Given the description of an element on the screen output the (x, y) to click on. 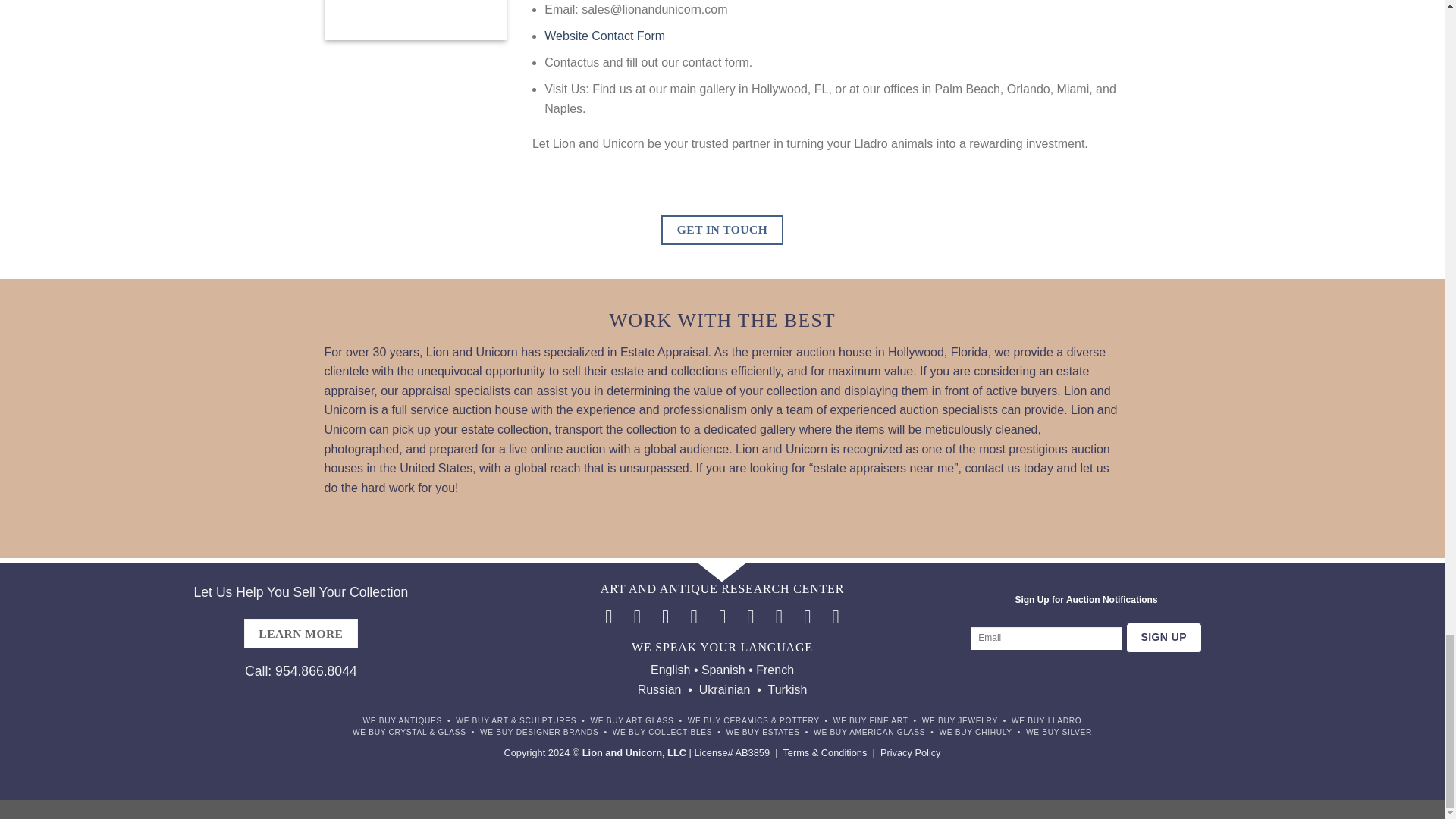
Follow on Twitter (693, 616)
Follow on Facebook (607, 616)
Sign Up (1163, 637)
Call us (750, 616)
Send us an email (722, 616)
Follow on Pinterest (779, 616)
Follow on Instagram (636, 616)
Follow on YouTube (836, 616)
Follow on LinkedIn (806, 616)
Follow on TikTok (665, 616)
